Given the description of an element on the screen output the (x, y) to click on. 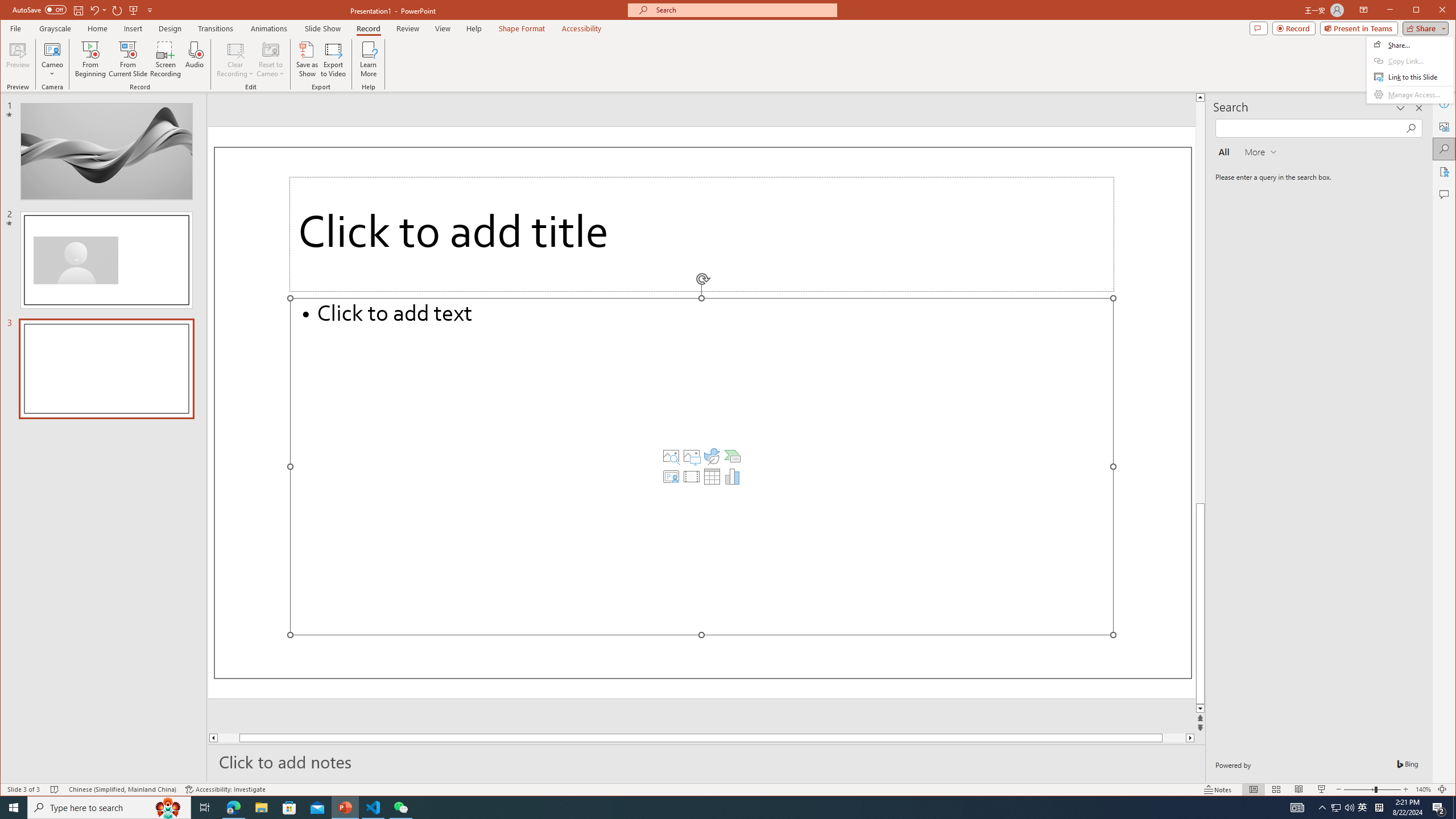
Stock Images (670, 456)
